Given the description of an element on the screen output the (x, y) to click on. 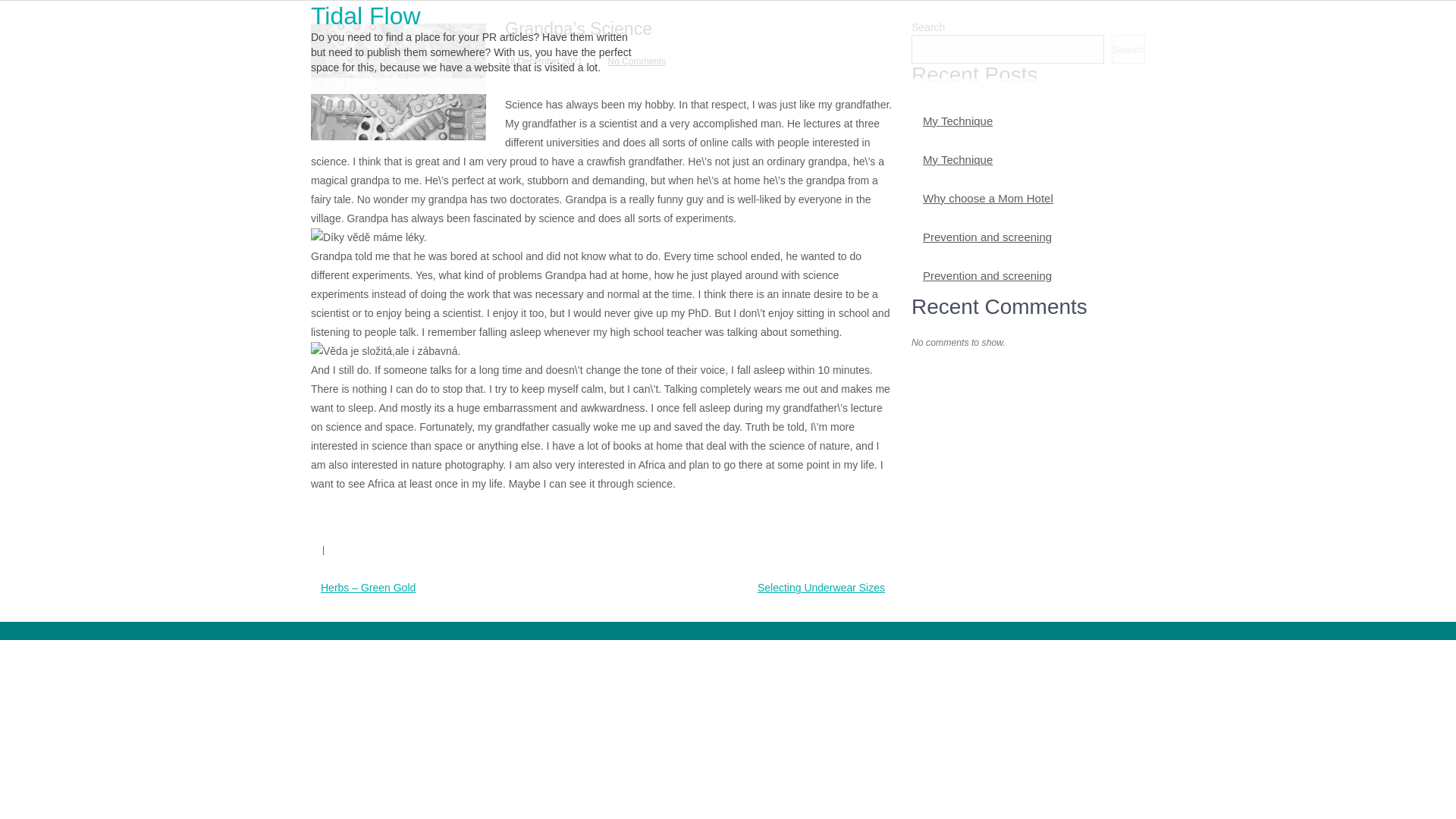
Why choose a Mom Hotel (987, 198)
Selecting Underwear Sizes (821, 587)
Tidal Flow (365, 15)
Prevention and screening (987, 237)
My Technique (957, 120)
Prevention and screening (987, 275)
Search (1128, 49)
No Comments (637, 61)
My Technique (957, 159)
